Given the description of an element on the screen output the (x, y) to click on. 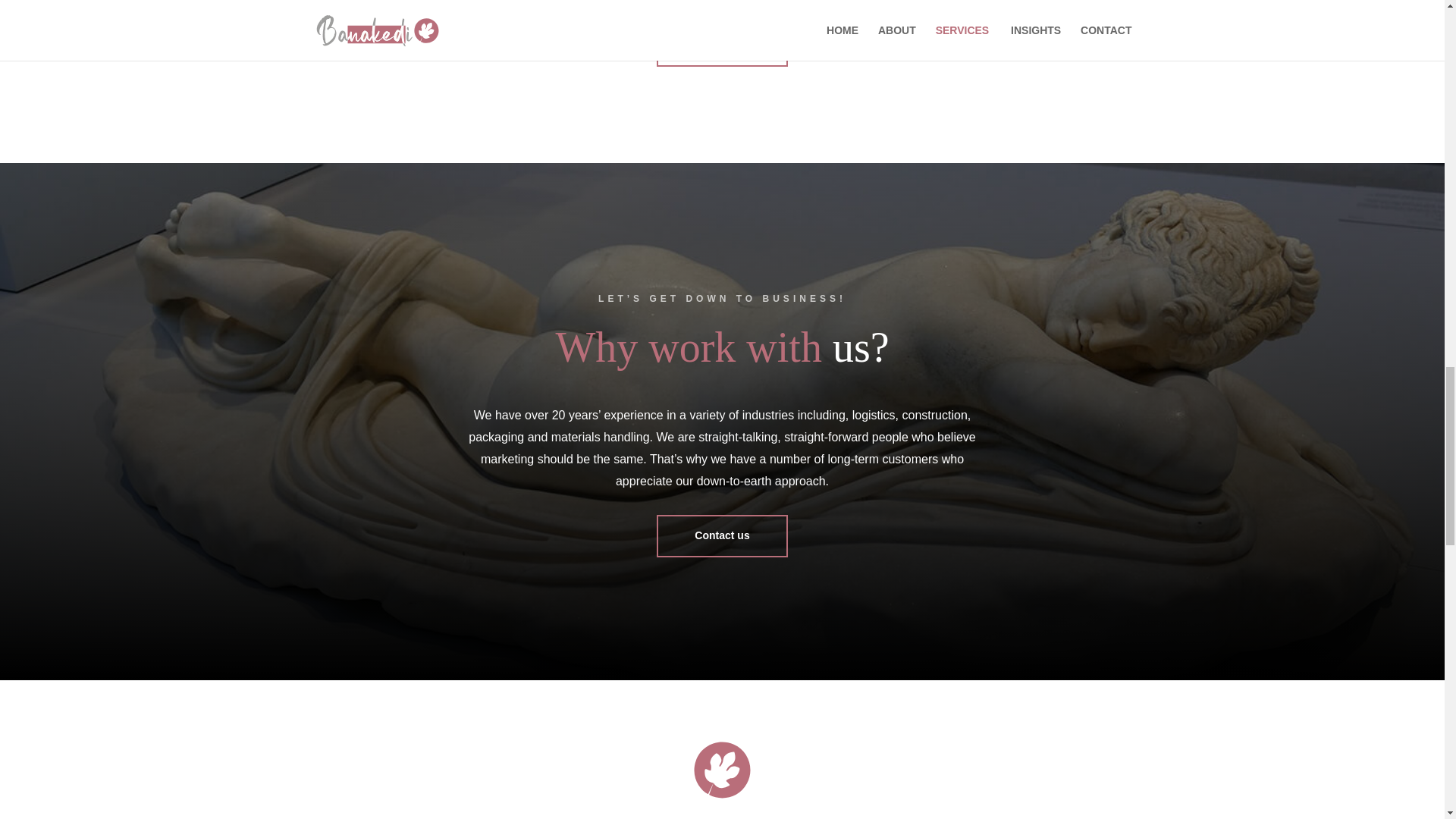
Contact us (721, 536)
Contact us (721, 45)
